Given the description of an element on the screen output the (x, y) to click on. 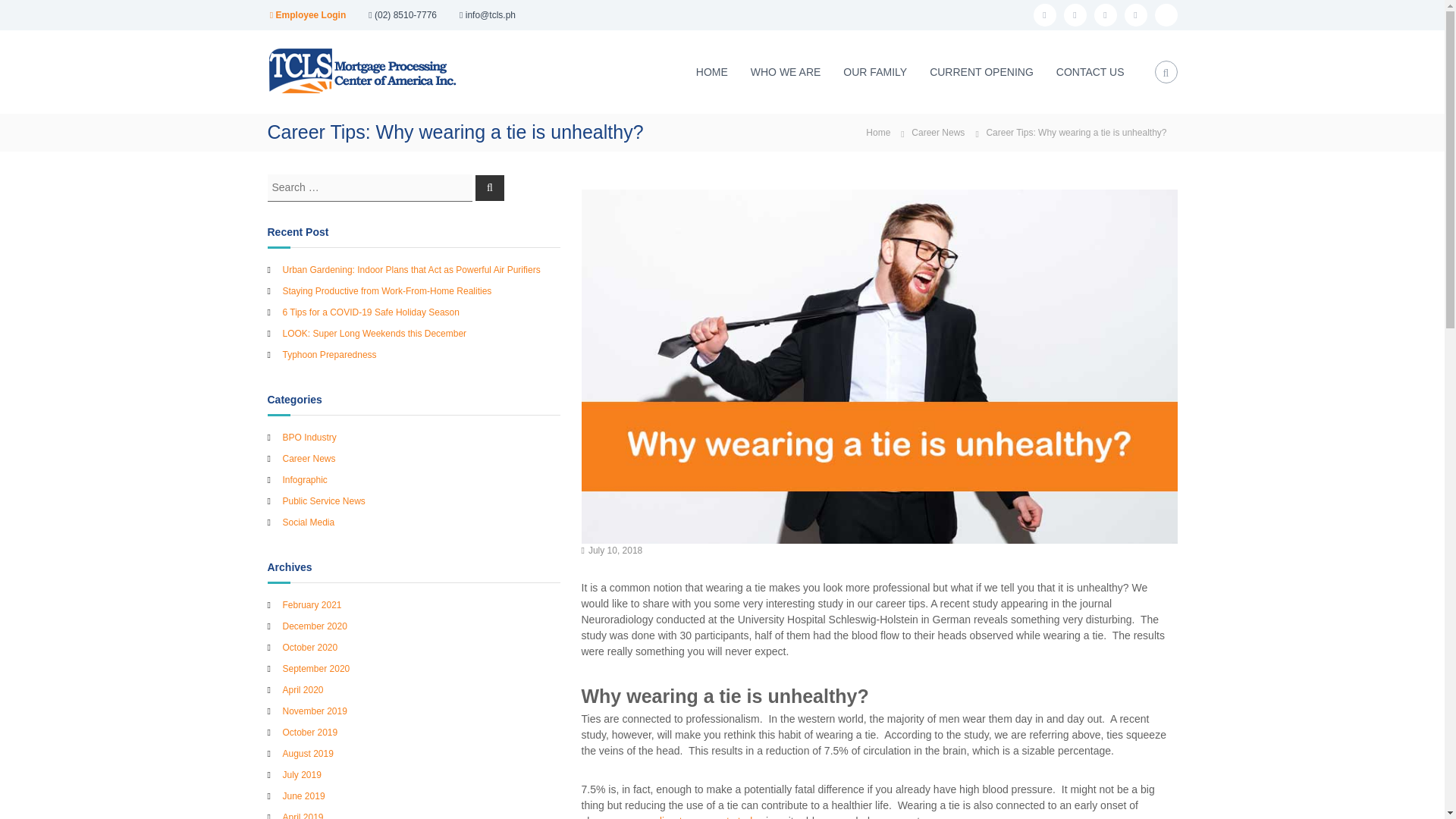
HOME (711, 70)
Home (878, 132)
CURRENT OPENING (981, 70)
July 10, 2018 (615, 550)
linkedin (1104, 15)
twitter (1074, 15)
Employee Login (307, 14)
CONTACT US (1090, 70)
OUR FAMILY (875, 70)
instagram (1135, 15)
google (1165, 15)
facebook (1043, 15)
Home (878, 132)
Career News (937, 132)
WHO WE ARE (786, 70)
